Given the description of an element on the screen output the (x, y) to click on. 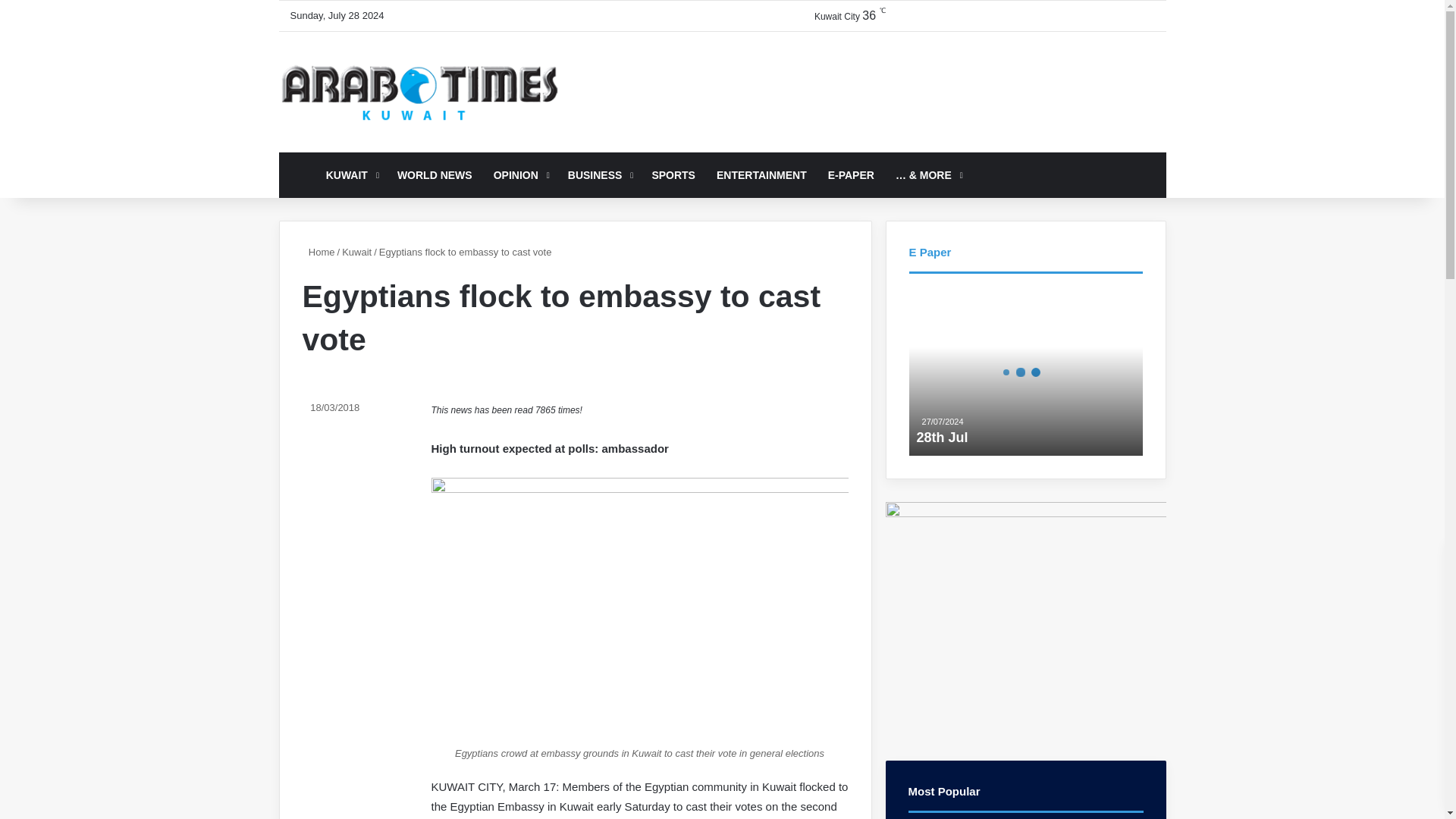
28th Jul (1025, 372)
BUSINESS (599, 175)
WORLD NEWS (435, 175)
OPINION (520, 175)
Home (317, 251)
KUWAIT (351, 175)
ARAB TIMES - KUWAIT NEWS (419, 92)
28th Jul (942, 437)
Kuwait (356, 251)
Clear Sky (836, 15)
E-PAPER (850, 175)
ENTERTAINMENT (761, 175)
SPORTS (673, 175)
